Given the description of an element on the screen output the (x, y) to click on. 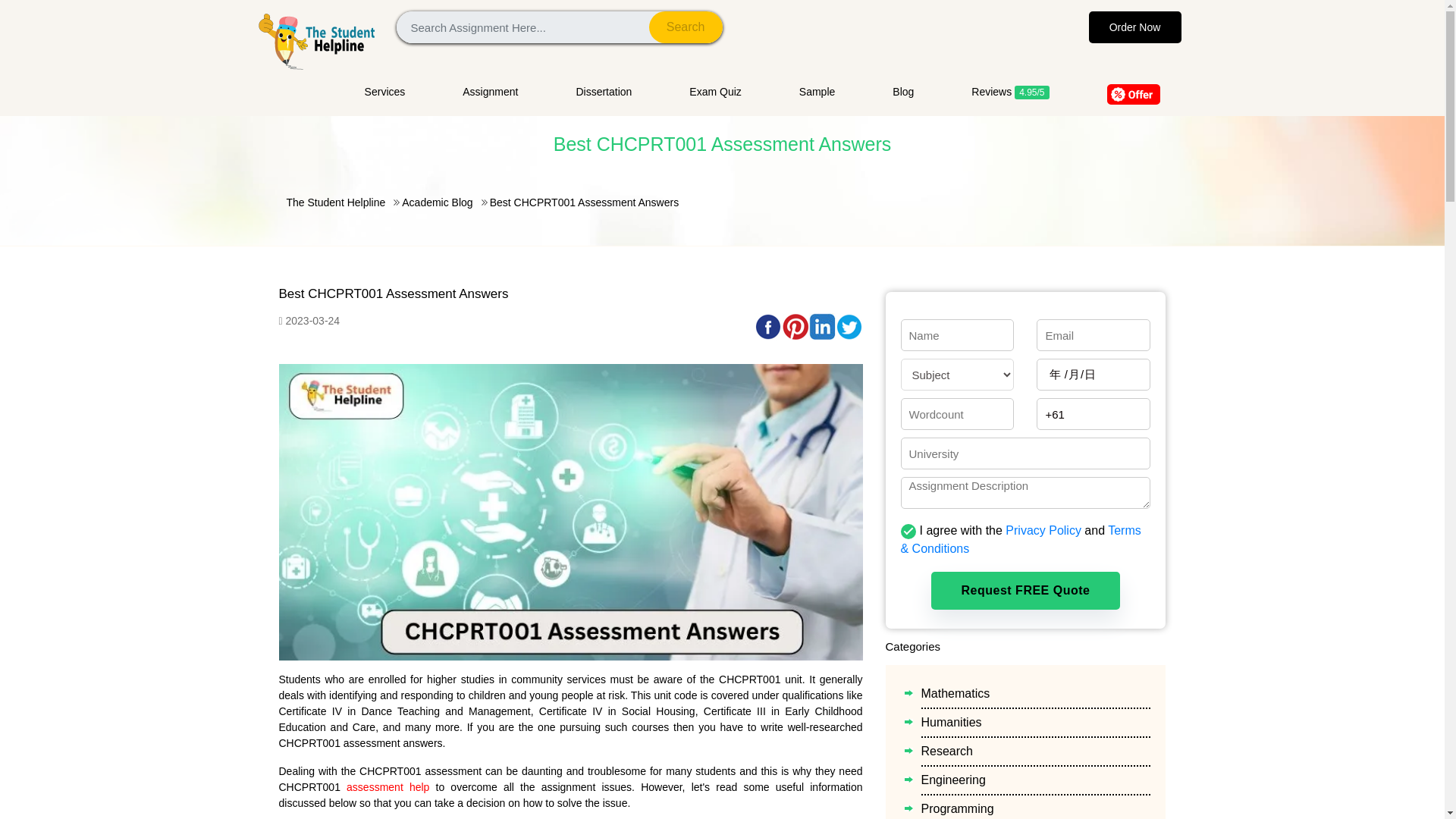
Dissertation (604, 91)
Search (685, 27)
Order Now (1134, 27)
Assignment (490, 91)
Services (399, 91)
